Given the description of an element on the screen output the (x, y) to click on. 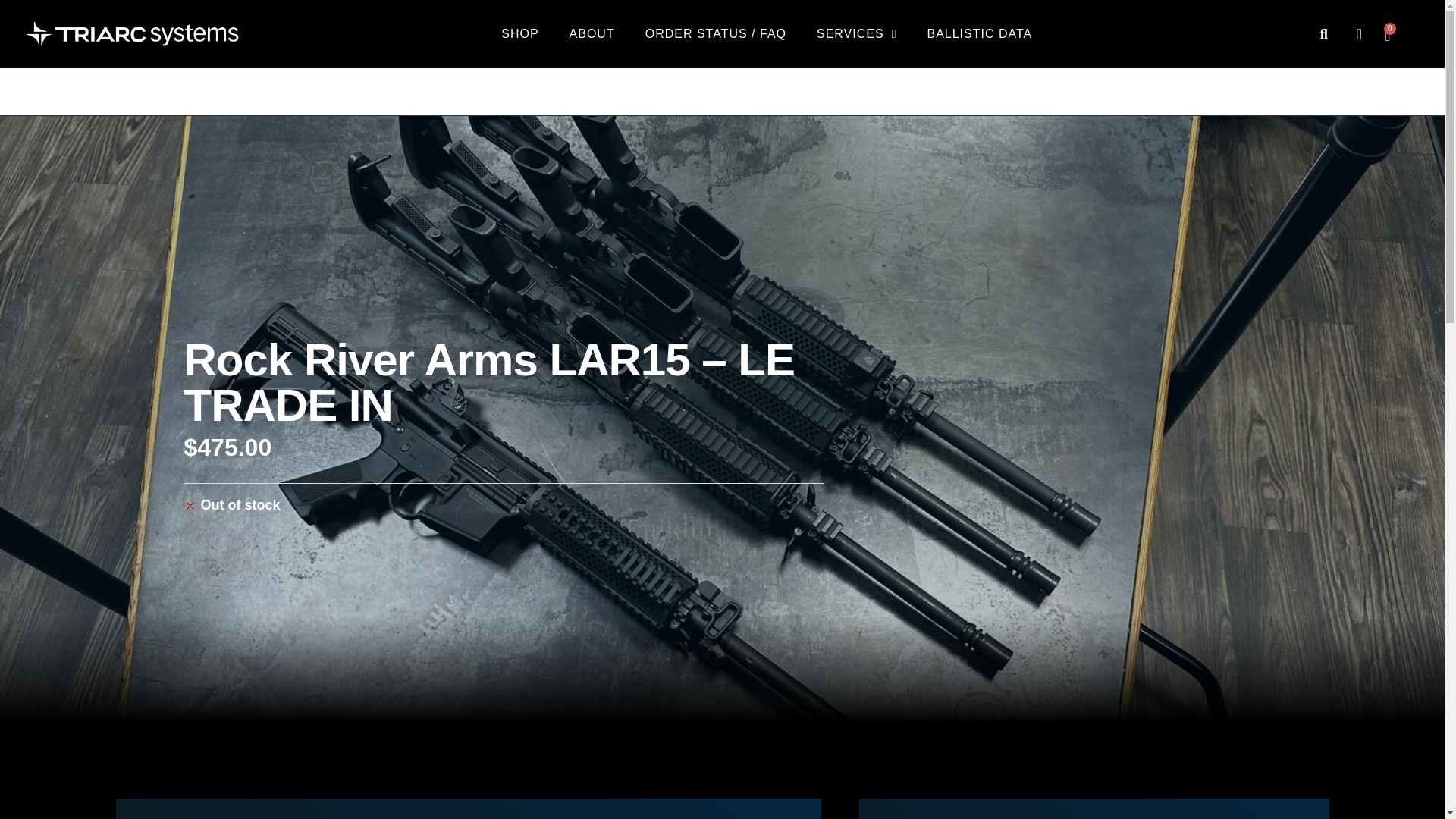
0 (1387, 34)
SERVICES (856, 33)
ABOUT (592, 33)
BALLISTIC DATA (978, 33)
SHOP (519, 33)
